Given the description of an element on the screen output the (x, y) to click on. 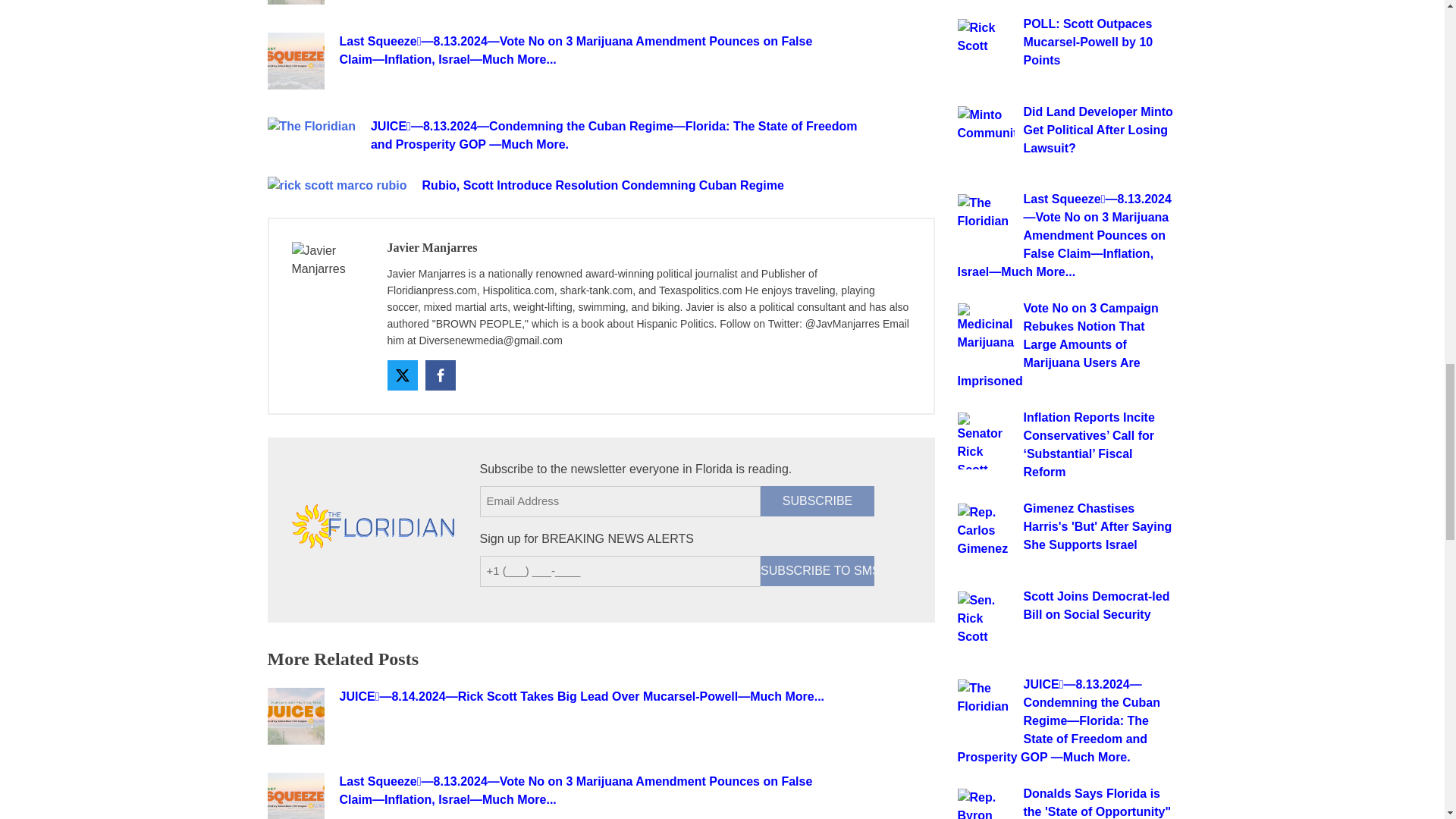
SUBSCRIBE TO SMS (817, 571)
Rubio, Scott Introduce Resolution Condemning Cuban Regime (672, 185)
SUBSCRIBE (817, 501)
